Given the description of an element on the screen output the (x, y) to click on. 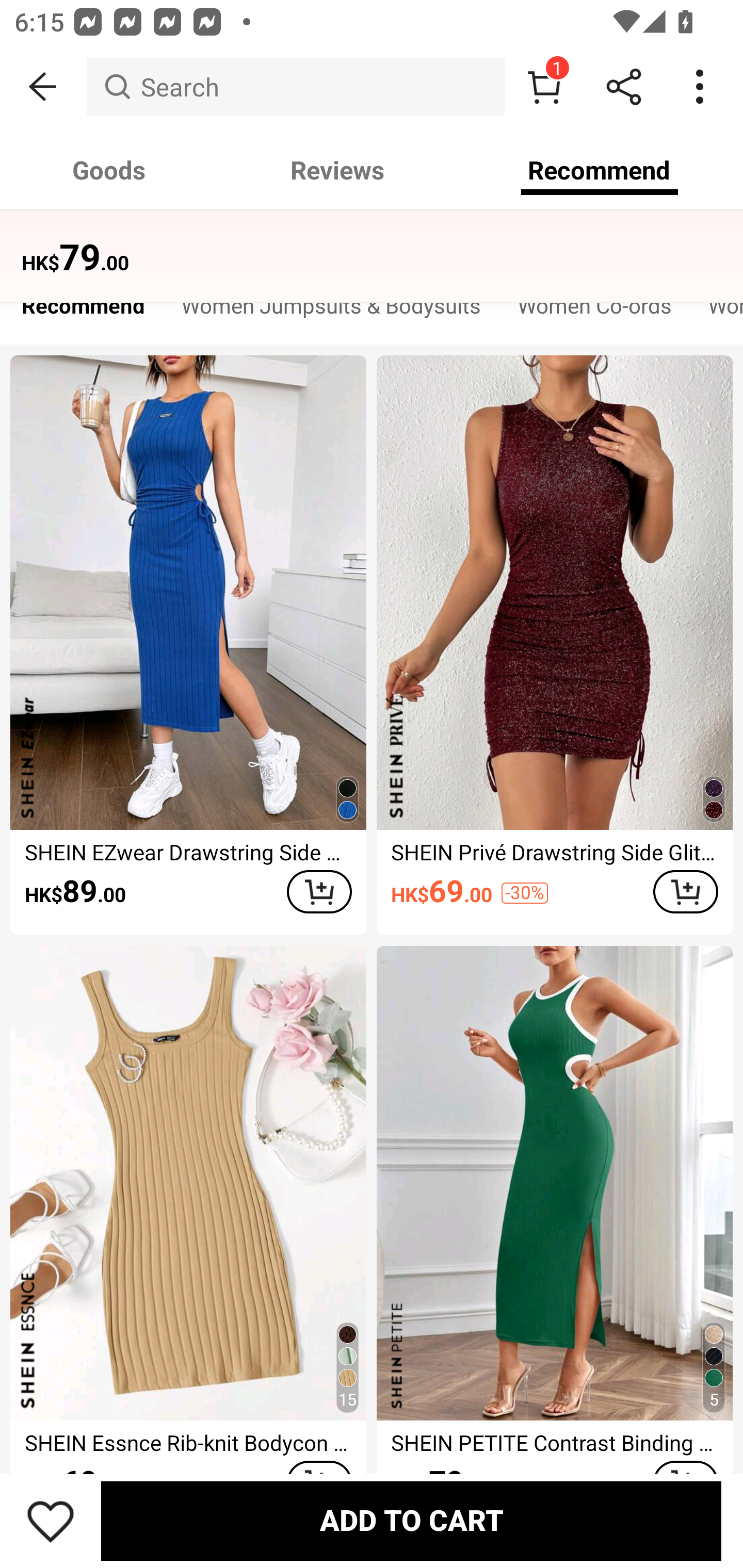
BACK (43, 86)
1 (543, 87)
Search (295, 87)
Goods (109, 170)
Reviews (337, 170)
Recommend (599, 170)
You May Also Like (371, 244)
Recommend (82, 310)
Women Jumpsuits & Bodysuits (330, 310)
Women Co-ords (594, 310)
ADD TO CART (319, 892)
ADD TO CART (685, 892)
ADD TO CART (411, 1520)
Save (50, 1520)
